Given the description of an element on the screen output the (x, y) to click on. 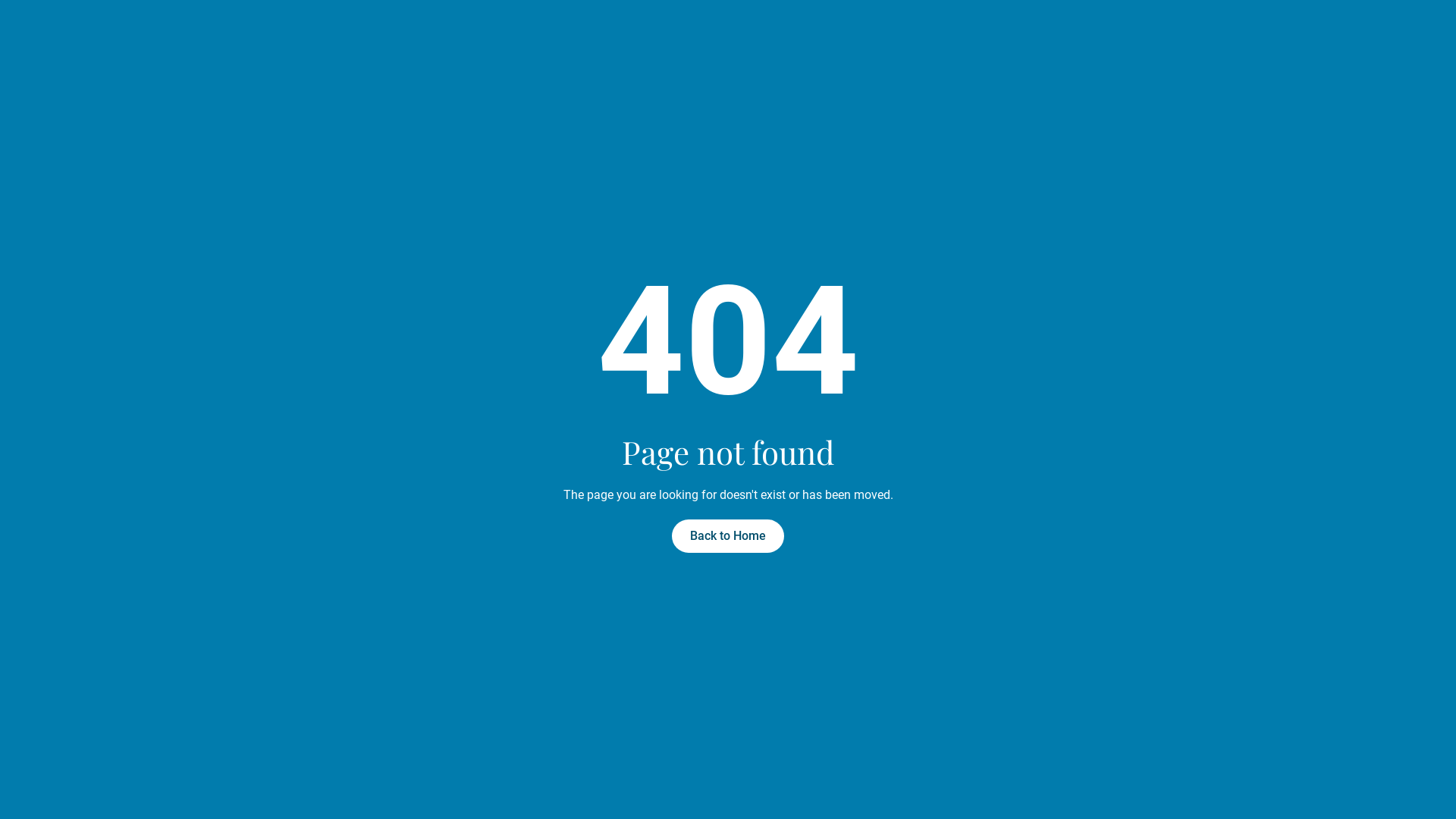
Back to Home Element type: text (727, 535)
